Given the description of an element on the screen output the (x, y) to click on. 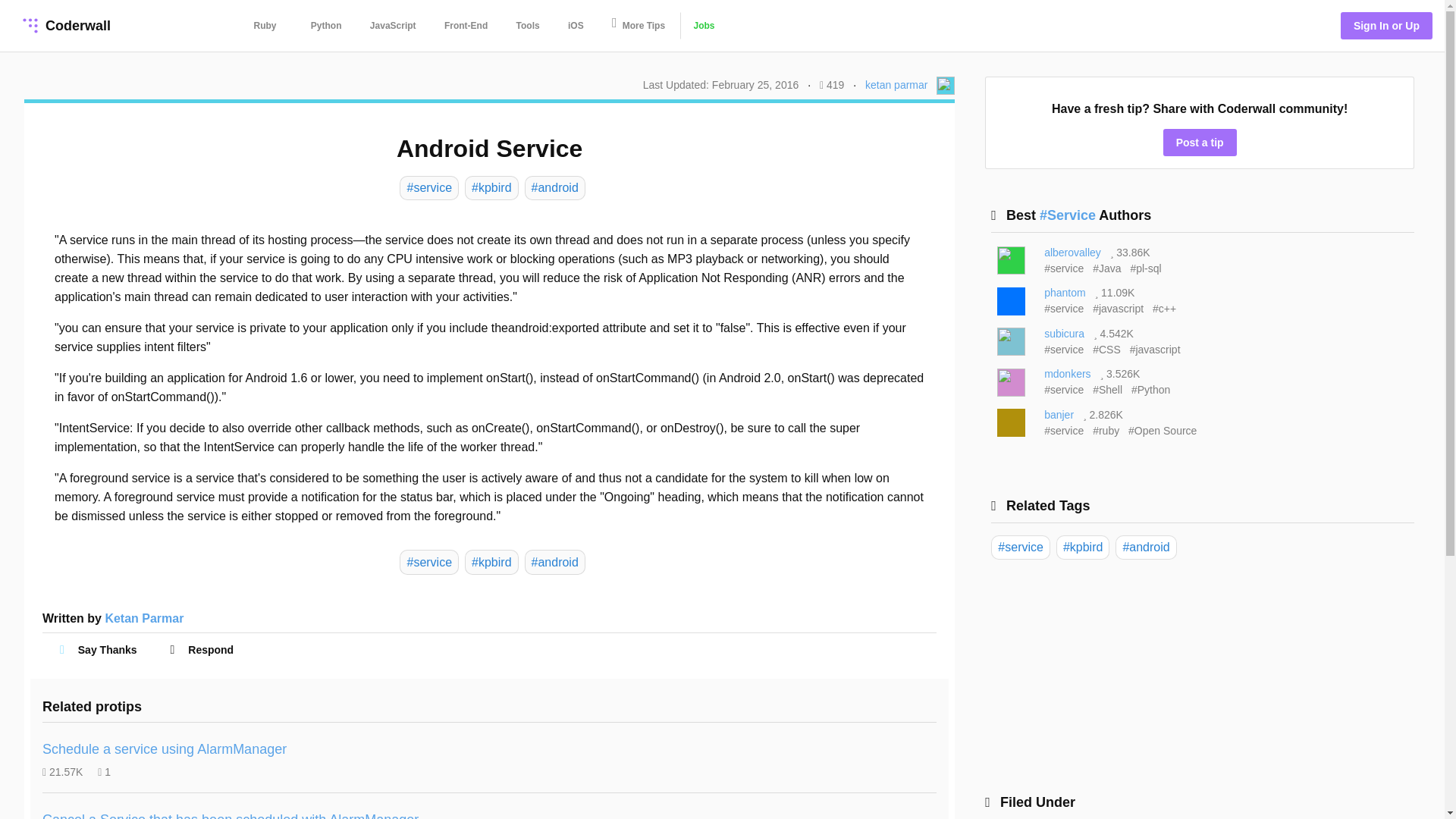
Ketan Parmar (143, 617)
Respond (204, 649)
Coderwall (64, 25)
Ruby (265, 25)
Python (326, 25)
Cancel a Service that has been scheduled with AlarmManager (230, 815)
Tools (528, 25)
Post a tip (1199, 142)
Schedule a service using AlarmManager (164, 749)
alberovalley (1071, 252)
